Given the description of an element on the screen output the (x, y) to click on. 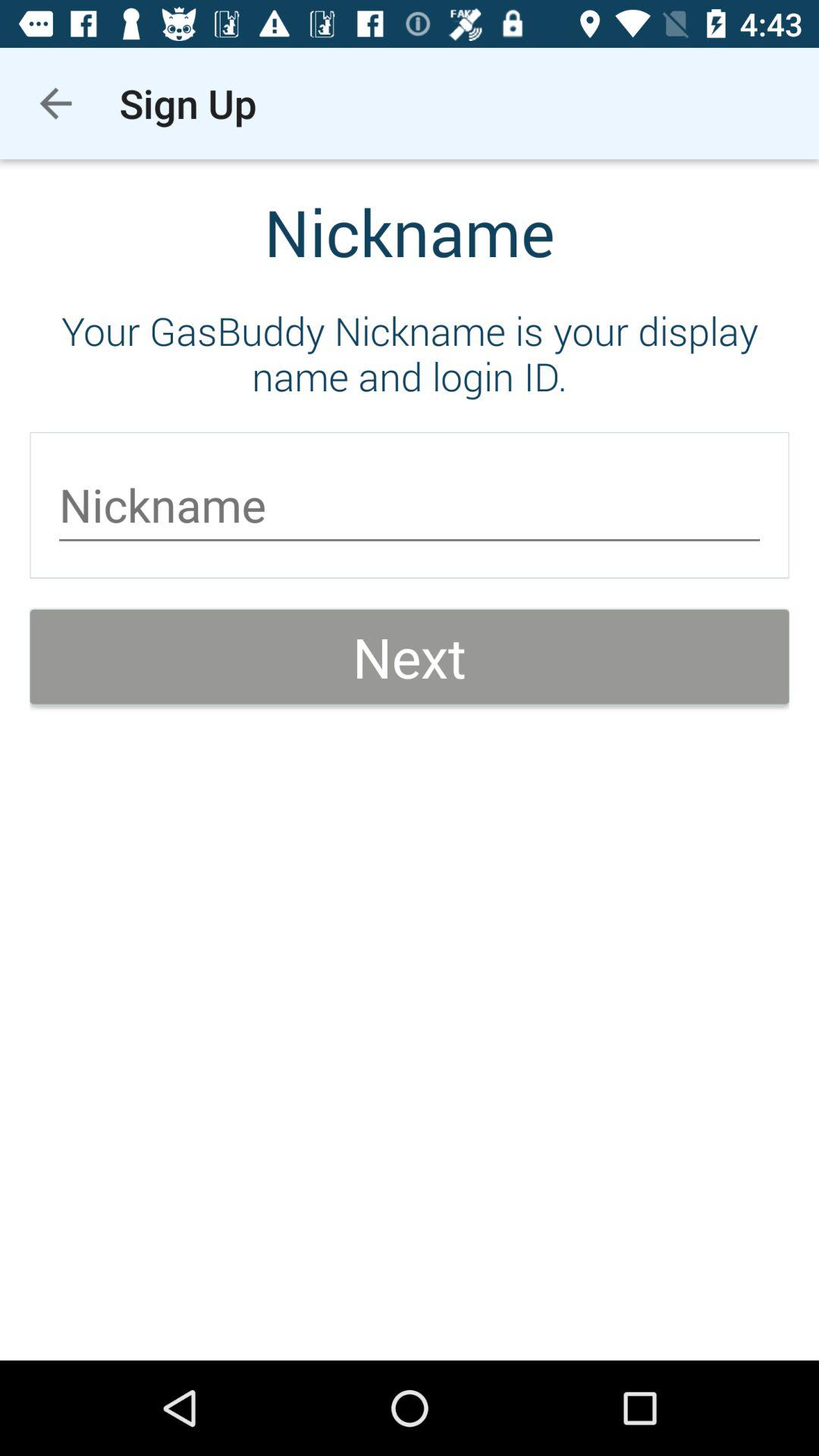
press the icon above next icon (409, 504)
